Given the description of an element on the screen output the (x, y) to click on. 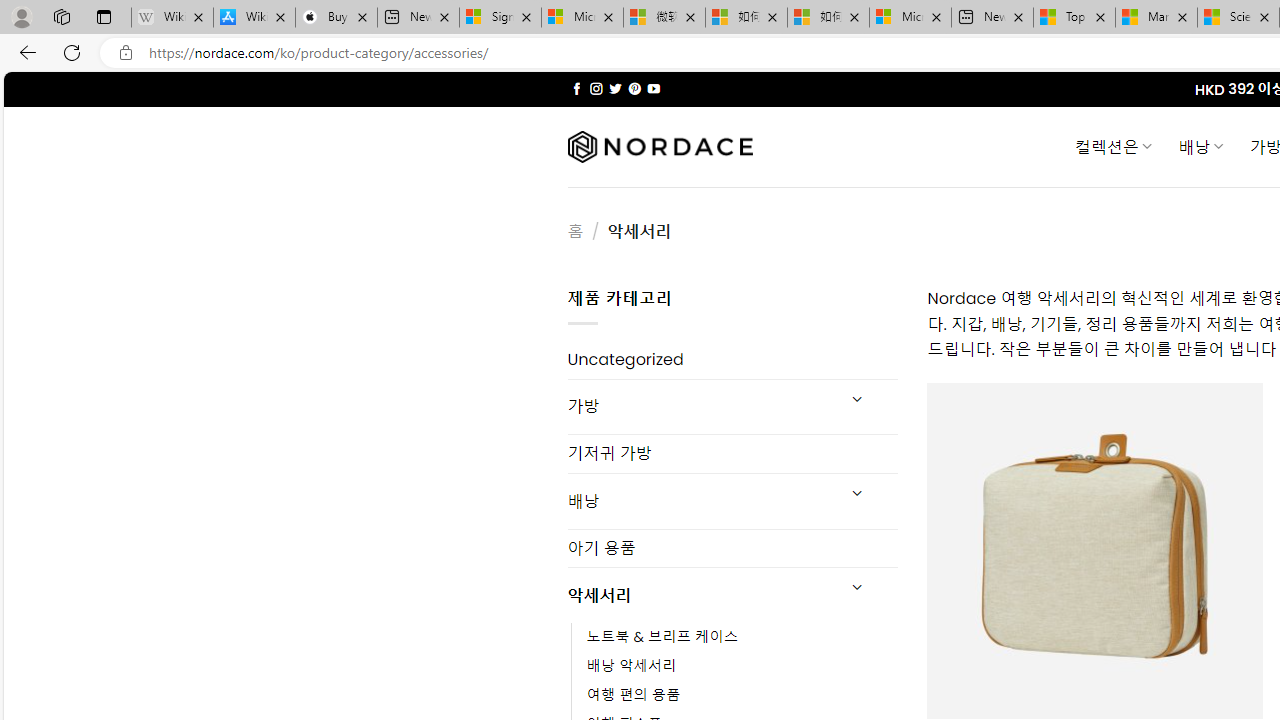
Follow on Twitter (615, 88)
Top Stories - MSN (1074, 17)
Follow on Pinterest (634, 88)
